Given the description of an element on the screen output the (x, y) to click on. 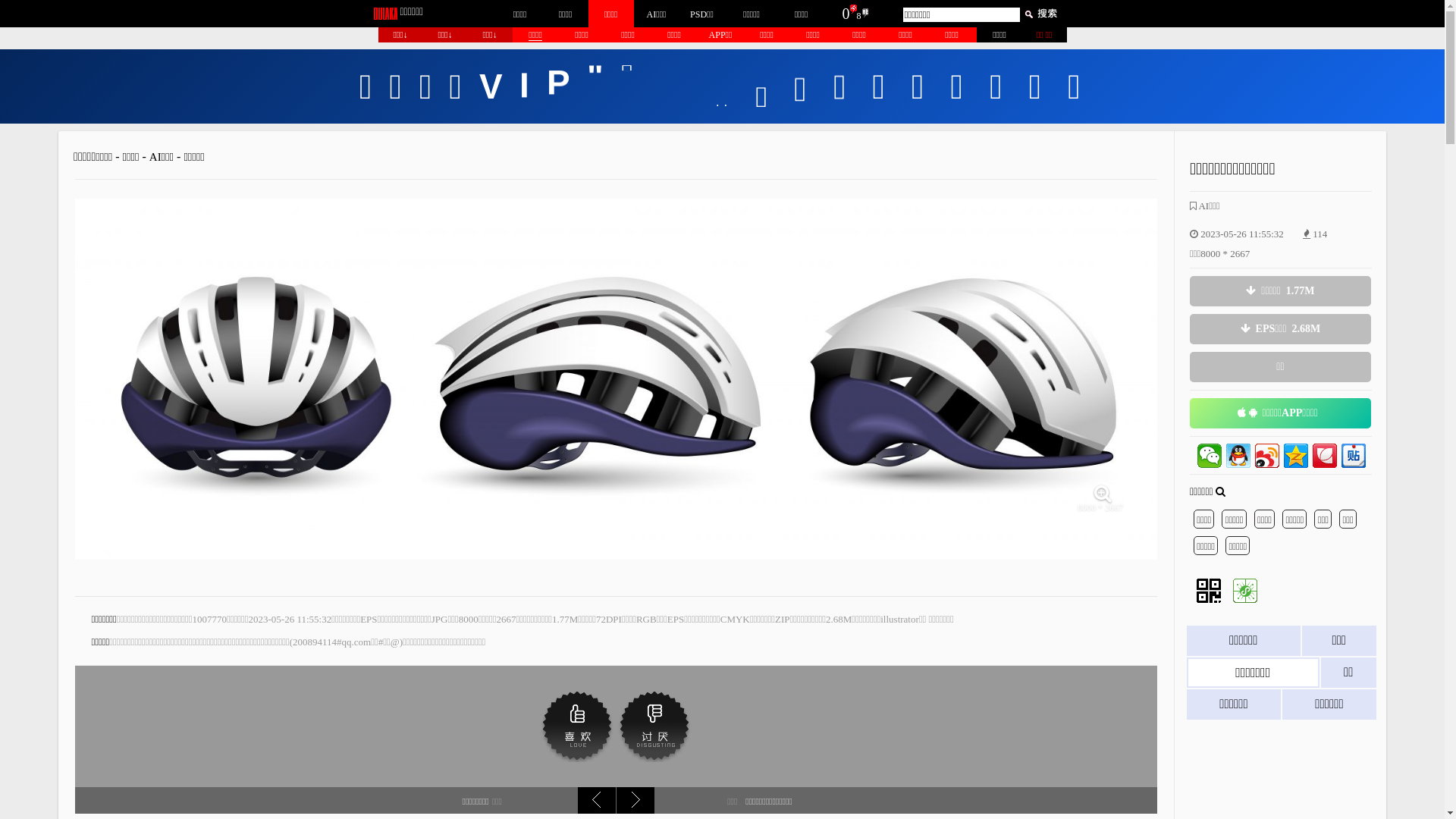
8000 * 2667 Element type: text (615, 521)
